Given the description of an element on the screen output the (x, y) to click on. 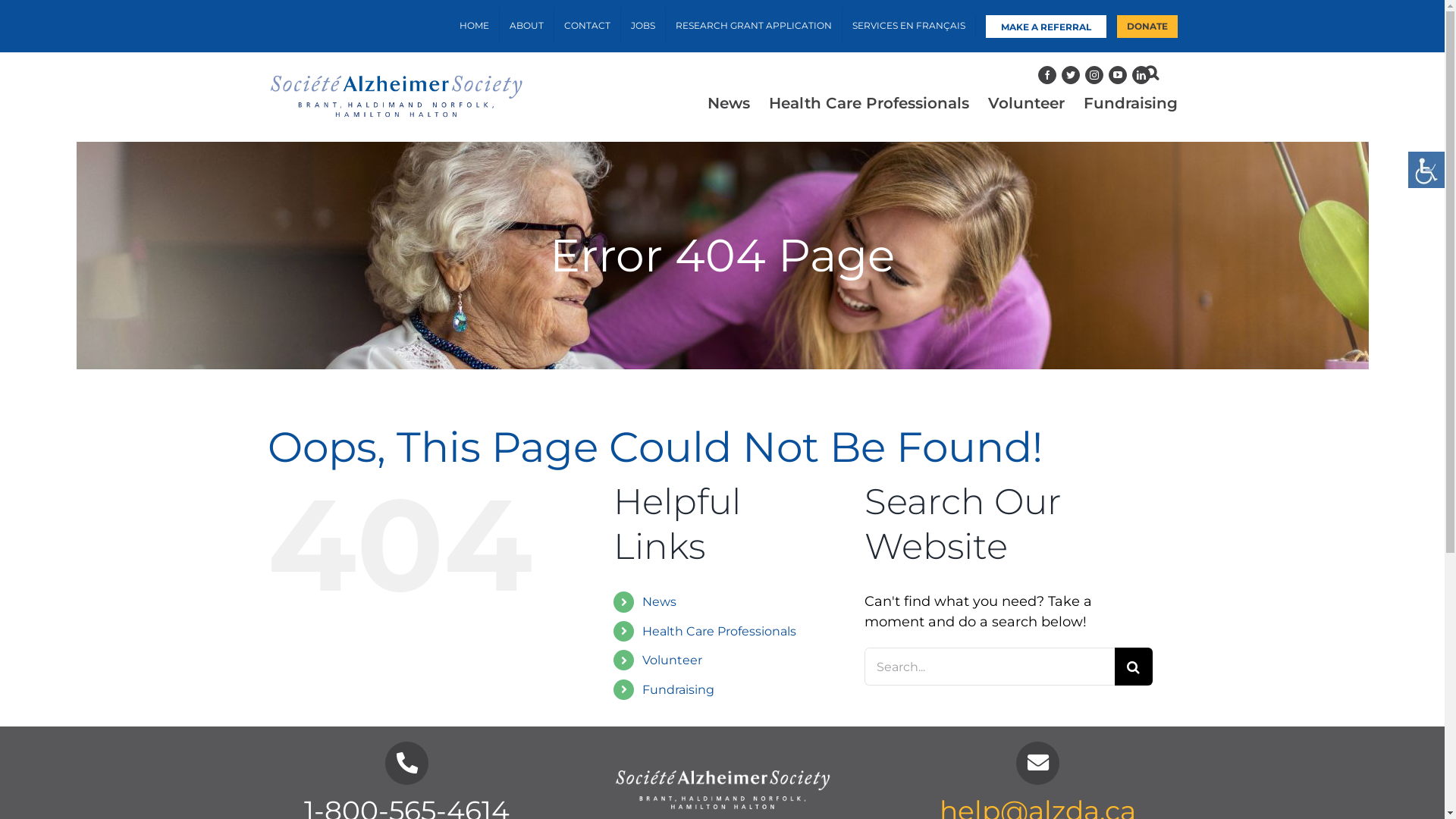
RESEARCH GRANT APPLICATION Element type: text (753, 25)
Volunteer Element type: text (1025, 103)
Health Care Professionals Element type: text (719, 631)
Volunteer Element type: text (672, 659)
DONATE Element type: text (1146, 26)
ABOUT Element type: text (525, 25)
MAKE A REFERRAL Element type: text (1045, 26)
HOME Element type: text (473, 25)
News Element type: text (727, 103)
News Element type: text (659, 601)
Fundraising Element type: text (678, 689)
CONTACT Element type: text (586, 25)
Health Care Professionals Element type: text (868, 103)
Fundraising Element type: text (1129, 103)
JOBS Element type: text (642, 25)
